Given the description of an element on the screen output the (x, y) to click on. 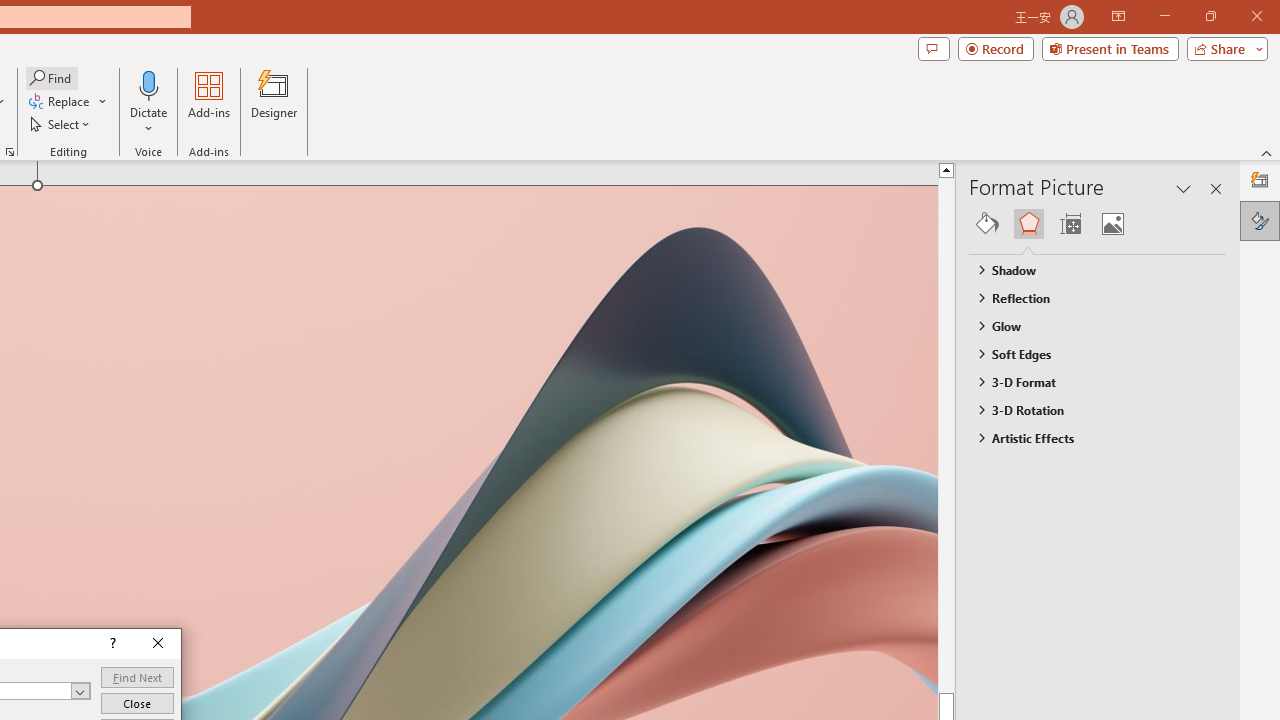
Size & Properties (1070, 223)
Class: NetUIGalleryContainer (1098, 223)
Reflection (1088, 297)
3-D Rotation (1088, 410)
